Given the description of an element on the screen output the (x, y) to click on. 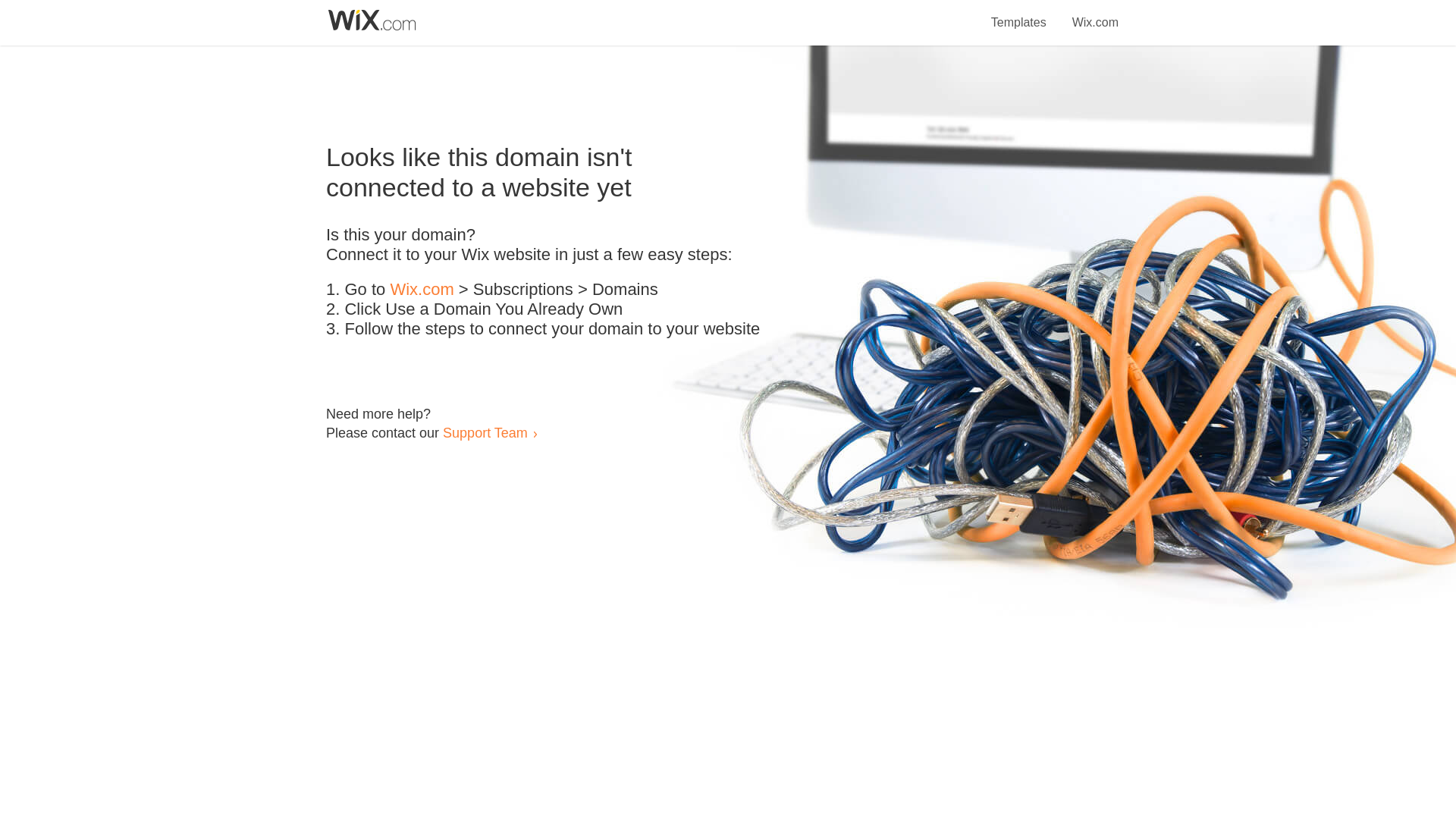
Wix.com (421, 289)
Templates (1018, 14)
Support Team (484, 432)
Wix.com (1095, 14)
